Given the description of an element on the screen output the (x, y) to click on. 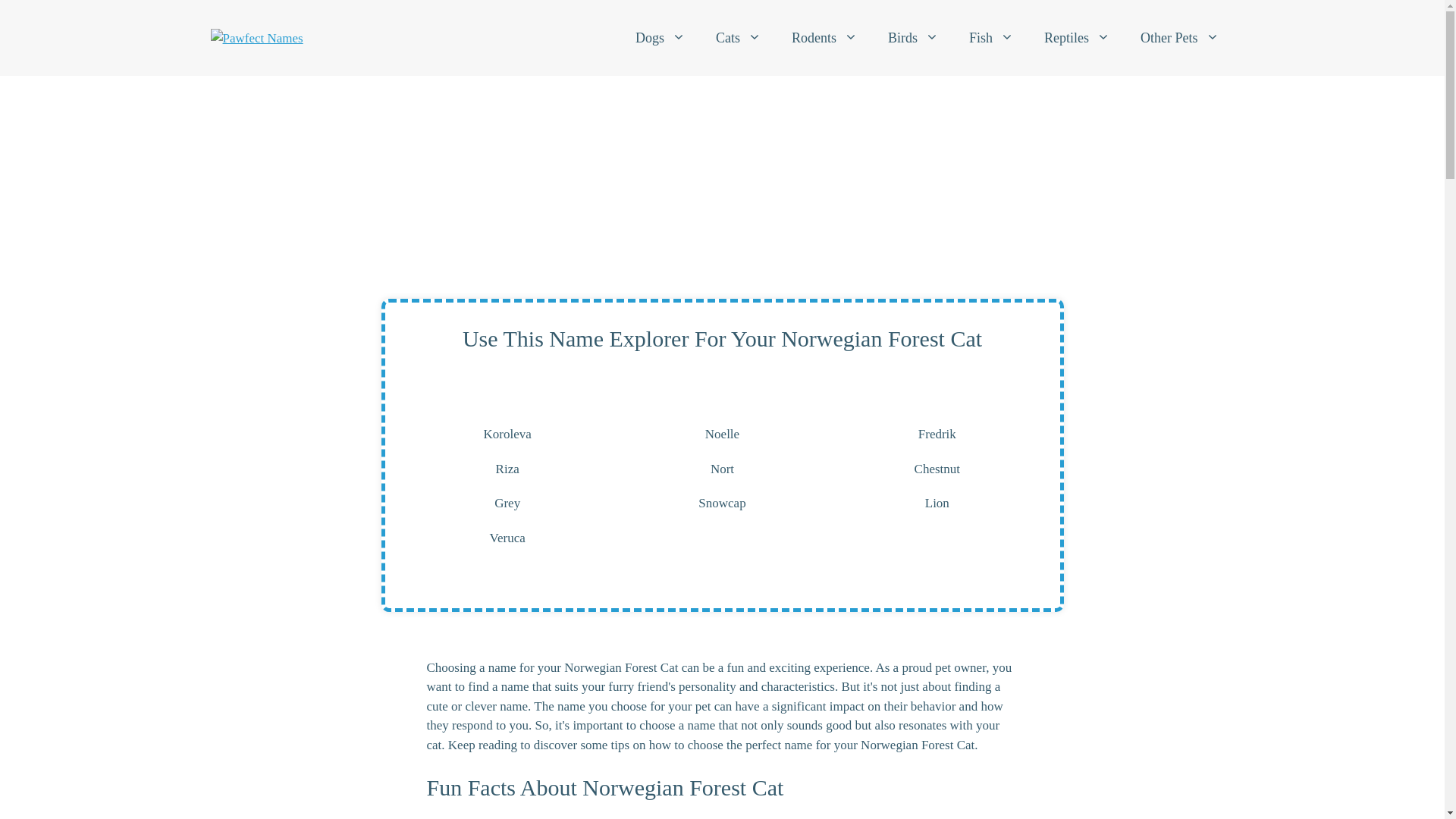
Dogs (660, 37)
Cats (738, 37)
Pawfect Names (256, 37)
